Given the description of an element on the screen output the (x, y) to click on. 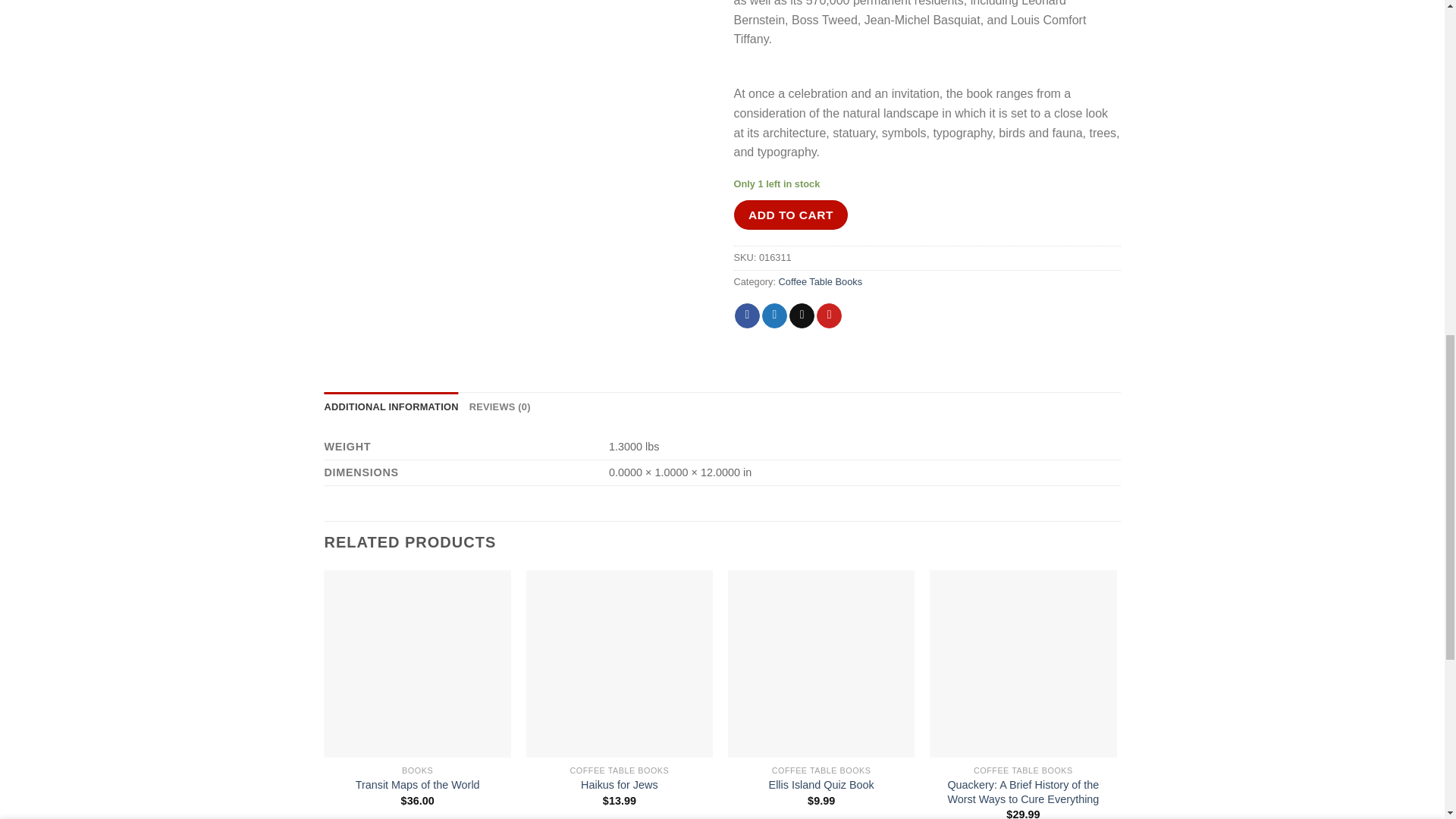
Share on Twitter (774, 316)
Pin on Pinterest (828, 316)
Email to a Friend (801, 316)
Share on Facebook (747, 316)
